Given the description of an element on the screen output the (x, y) to click on. 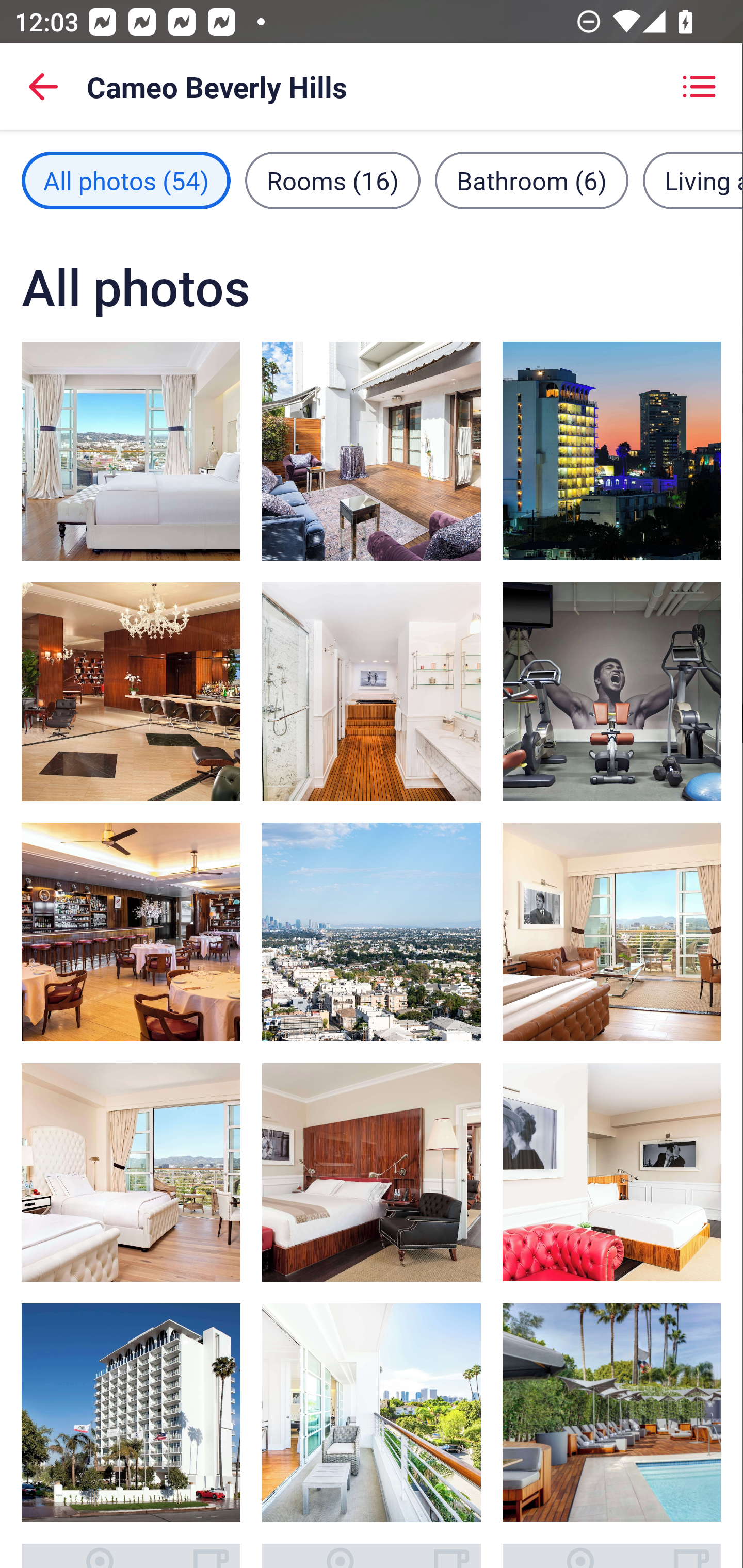
Back (43, 86)
Showing grid view (699, 86)
All photos filter, 54 images (125, 180)
Rooms filter, 16 images (332, 180)
Bathroom filter, 6 images (531, 180)
Living area filter, 7 images (692, 180)
Meeting facility, image (371, 451)
Exterior, image (611, 450)
Bar (on property), image (130, 691)
Bathroom shower, image (371, 691)
Fitness facility, image (611, 691)
Bar (on property), image (130, 932)
City view, image (371, 932)
Exterior, image (130, 1412)
Outdoor pool, sun loungers, image (611, 1411)
